Given the description of an element on the screen output the (x, y) to click on. 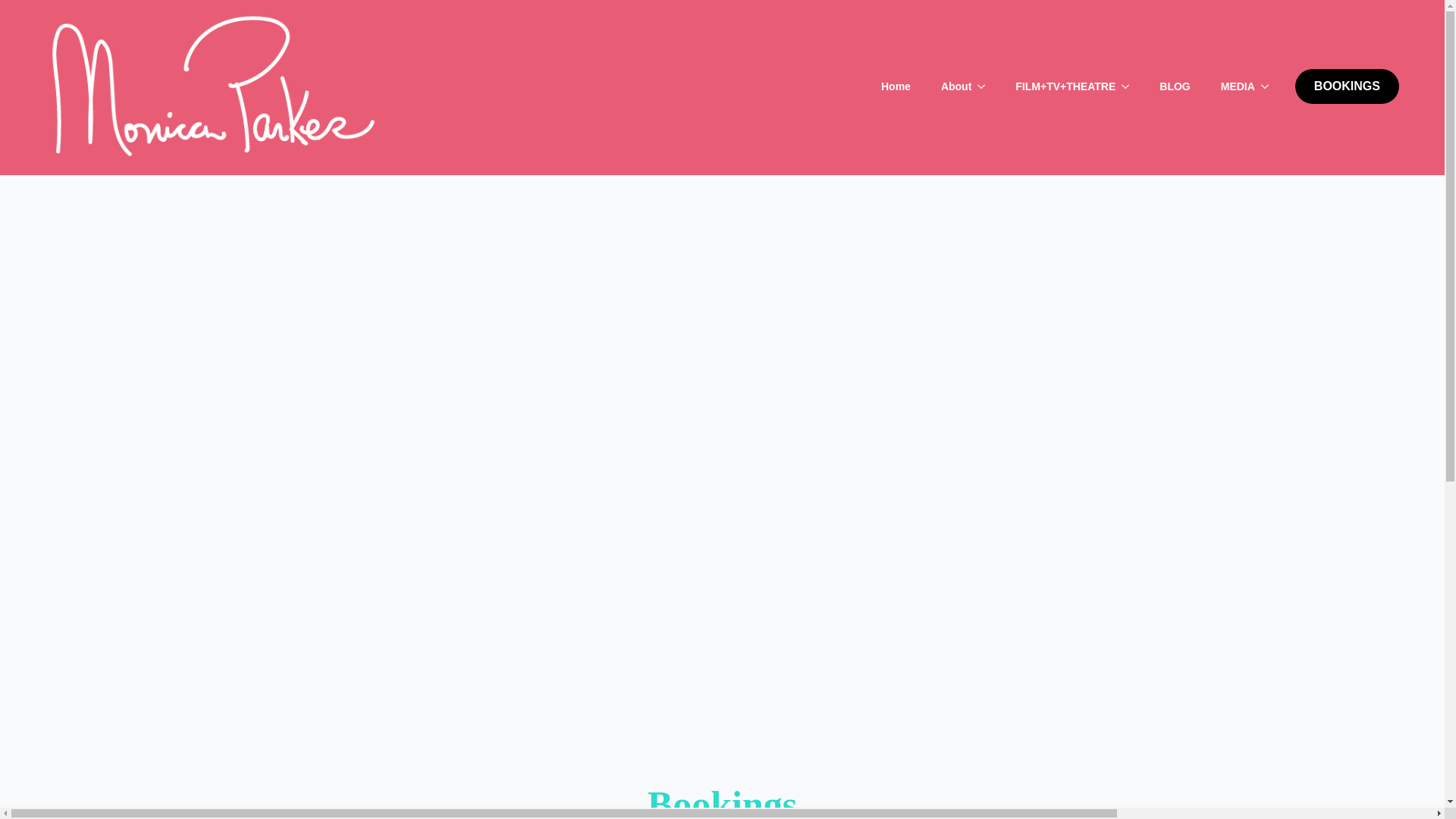
BOOKINGS (1347, 86)
About (948, 86)
Home (896, 86)
MEDIA (1230, 86)
BLOG (1174, 86)
